Given the description of an element on the screen output the (x, y) to click on. 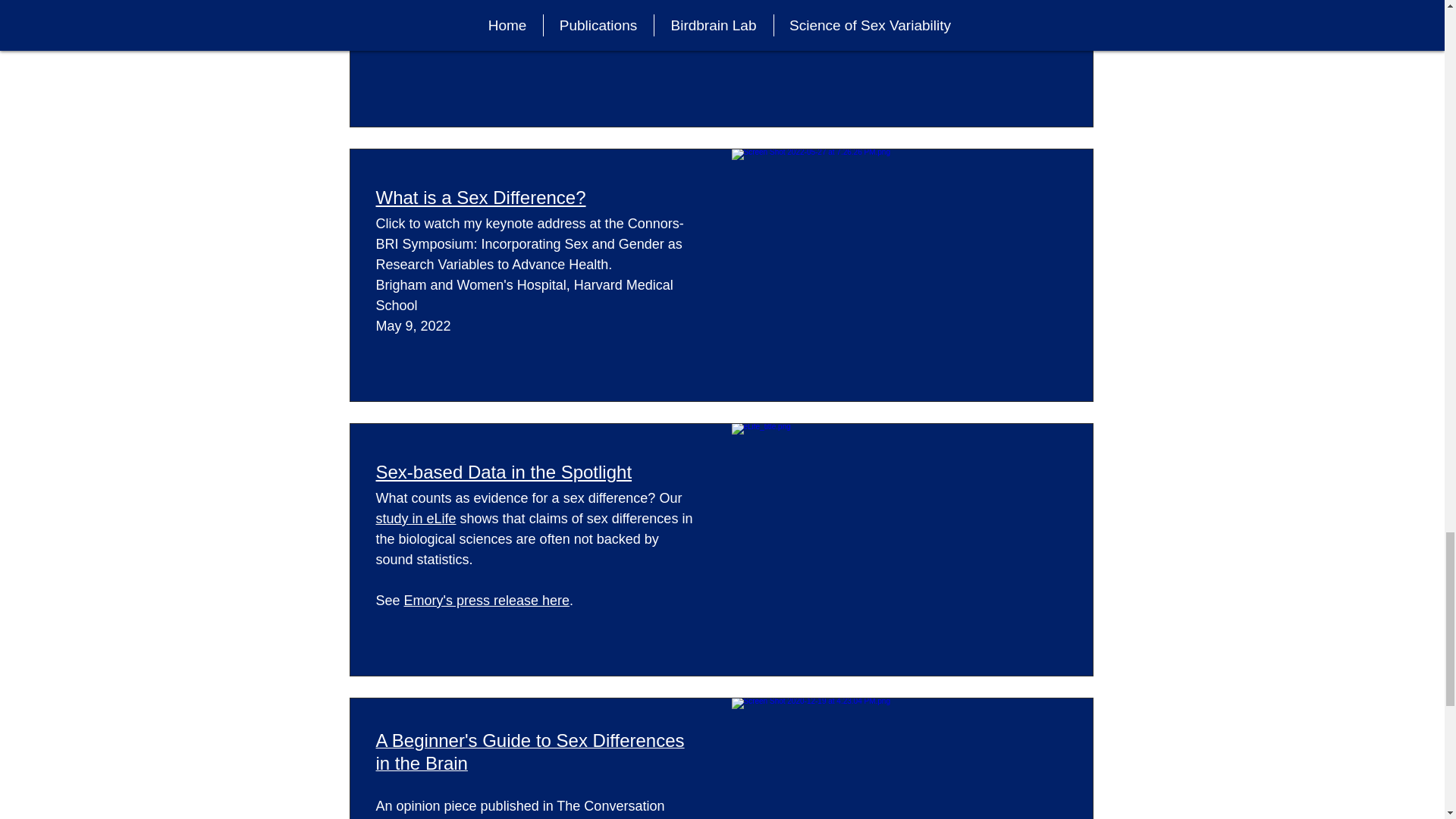
Emory's press release here (487, 600)
What is a Sex Difference? (480, 196)
A Beginner's Guide to Sex Differences in the Brain (529, 753)
study in eLife (416, 518)
Sex-based Data in the Spotlight (503, 471)
